Given the description of an element on the screen output the (x, y) to click on. 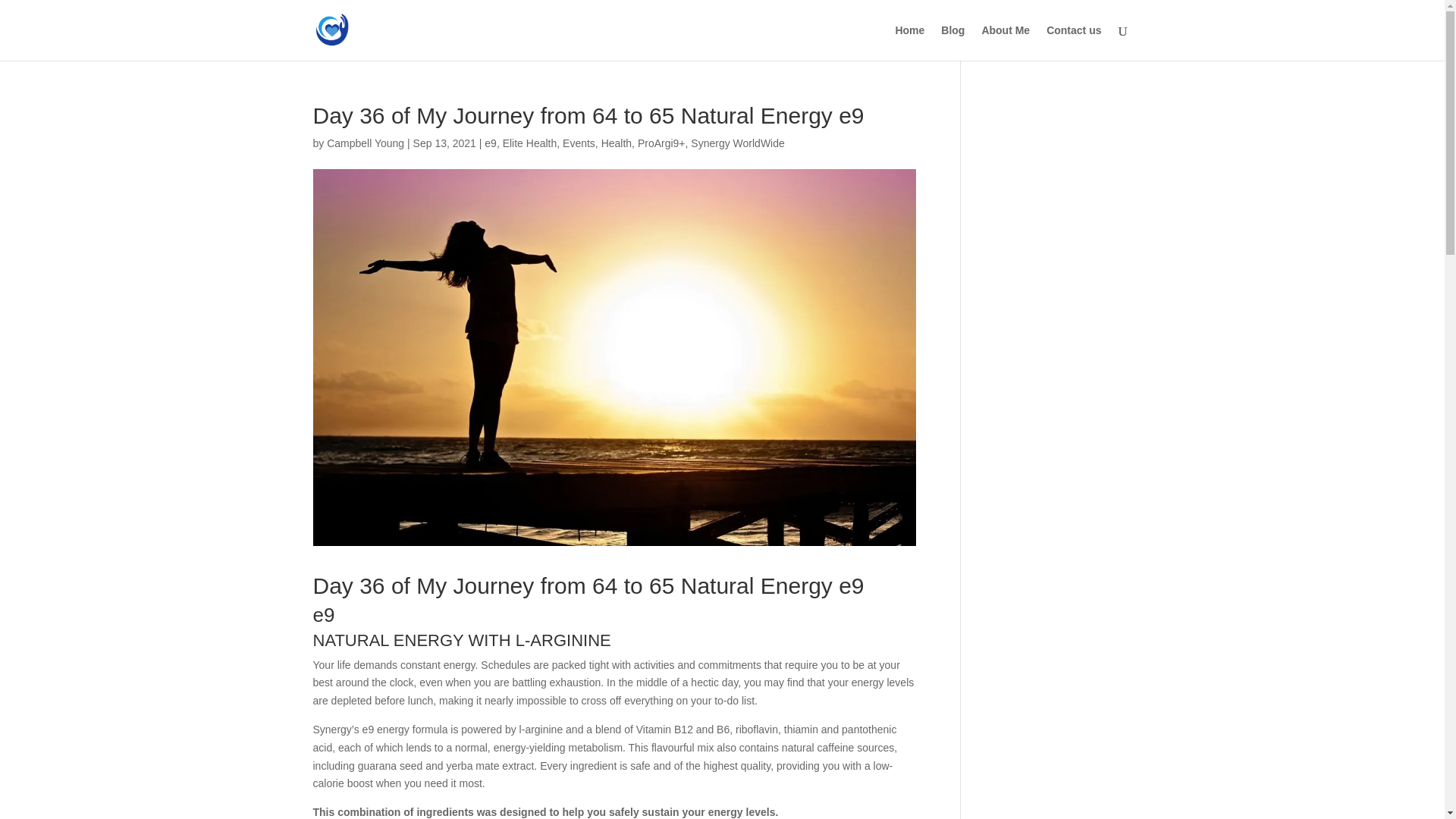
Health (616, 143)
Events (578, 143)
About Me (1005, 42)
Contact us (1073, 42)
Elite Health (529, 143)
e9 (490, 143)
Synergy WorldWide (737, 143)
Posts by Campbell Young (365, 143)
Campbell Young (365, 143)
